Given the description of an element on the screen output the (x, y) to click on. 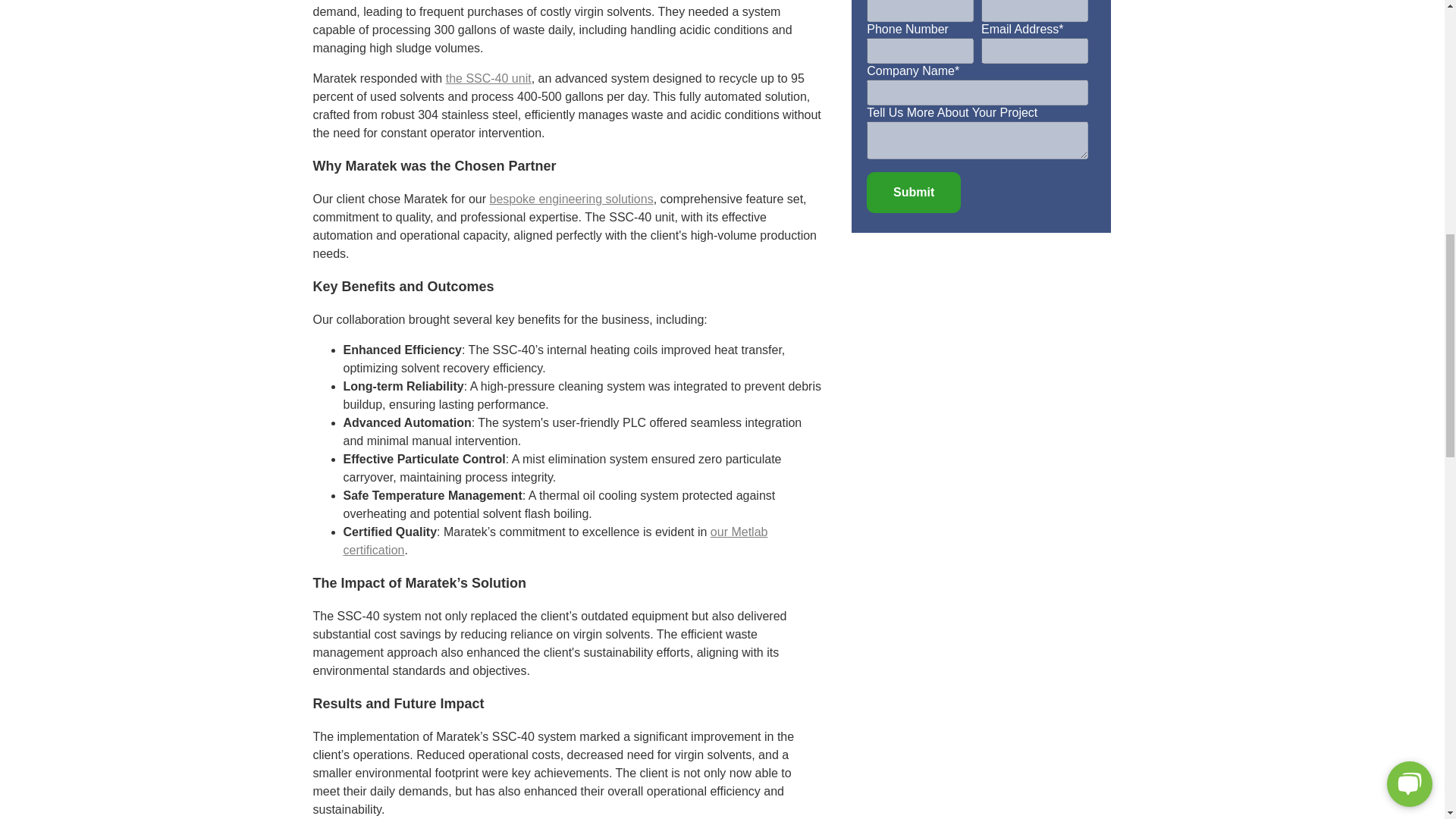
Submit (913, 191)
